Given the description of an element on the screen output the (x, y) to click on. 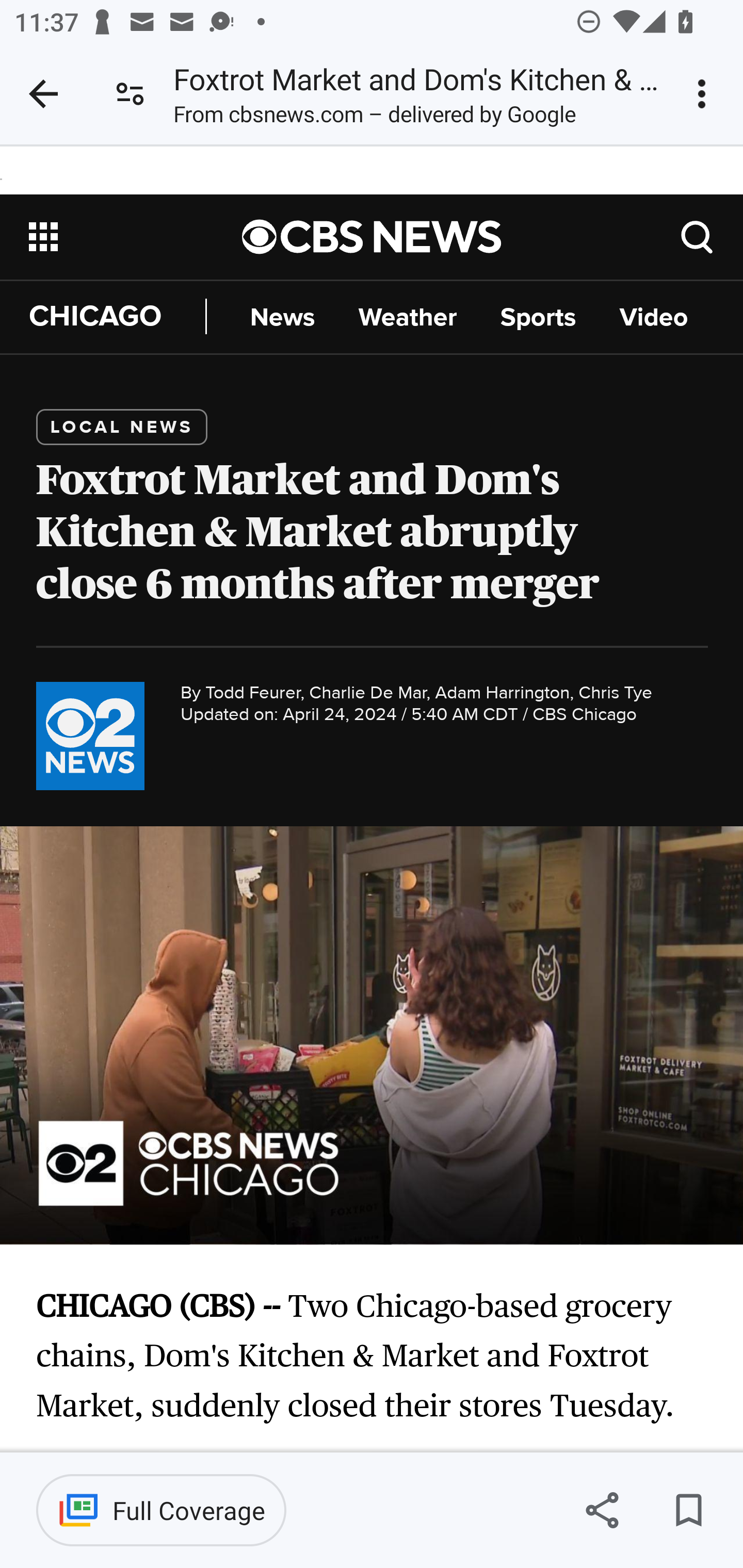
Close tab (43, 93)
Customize and control Google Chrome (705, 93)
Connection is secure (129, 93)
From cbsnews.com – delivered by Google (374, 117)
?ftag=CNM-00-10aab4i (697, 236)
Go to CBS News National home page (372, 236)
Open the site navigation (135, 236)
CHICAGO (117, 316)
News (281, 317)
Weather (407, 317)
Sports (538, 317)
Video (653, 317)
LOCAL NEWS (122, 426)
chicago (90, 735)
Full Coverage (161, 1509)
Share (601, 1510)
Save for later (688, 1510)
